Given the description of an element on the screen output the (x, y) to click on. 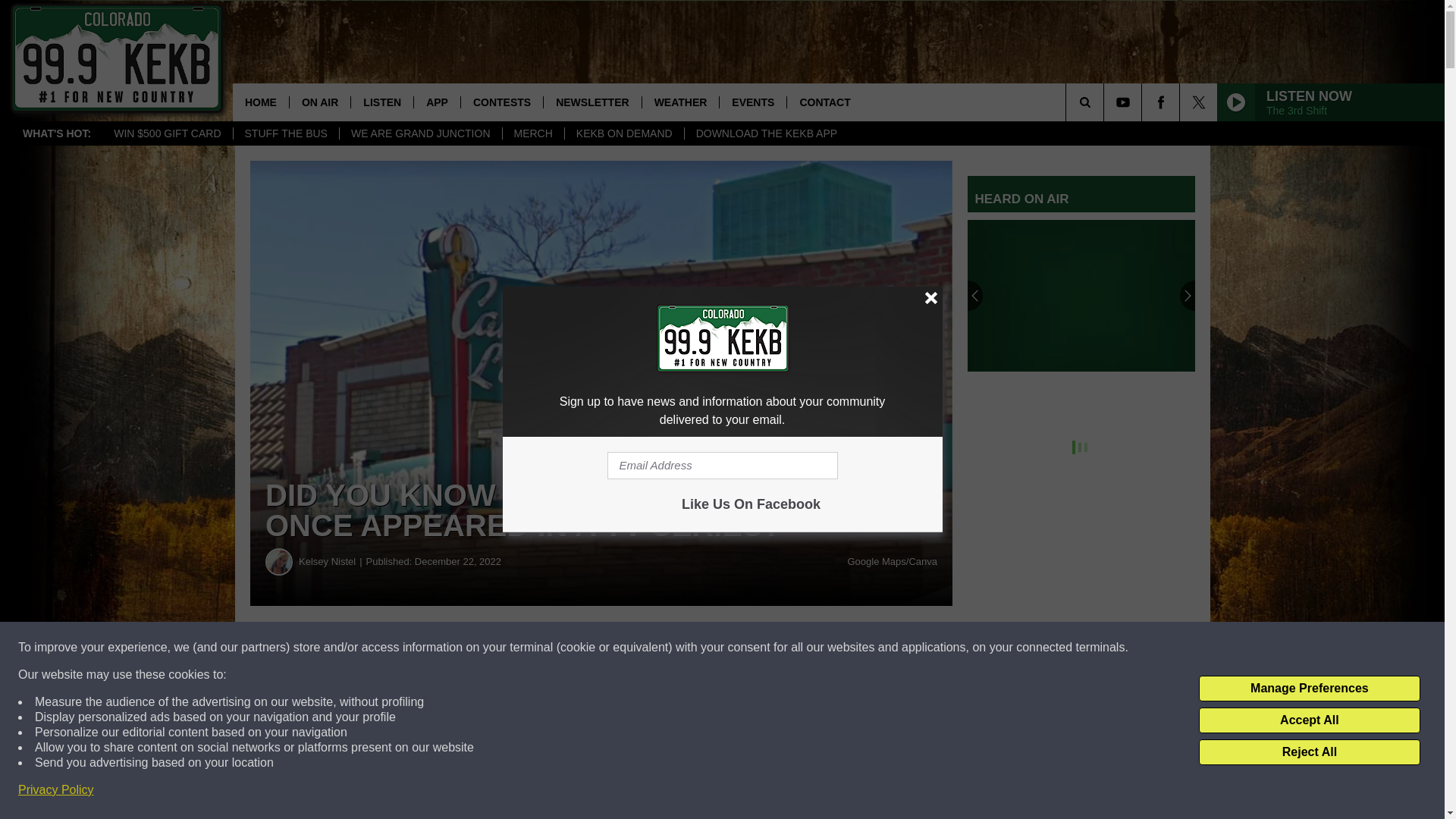
APP (436, 102)
Reject All (1309, 751)
HOME (260, 102)
Share on Facebook (460, 647)
Email Address (722, 465)
Privacy Policy (55, 789)
SEARCH (1106, 102)
CONTESTS (501, 102)
MERCH (533, 133)
DOWNLOAD THE KEKB APP (766, 133)
STUFF THE BUS (284, 133)
Share on Twitter (741, 647)
LISTEN (381, 102)
WE ARE GRAND JUNCTION (420, 133)
WHAT'S HOT: (56, 133)
